Given the description of an element on the screen output the (x, y) to click on. 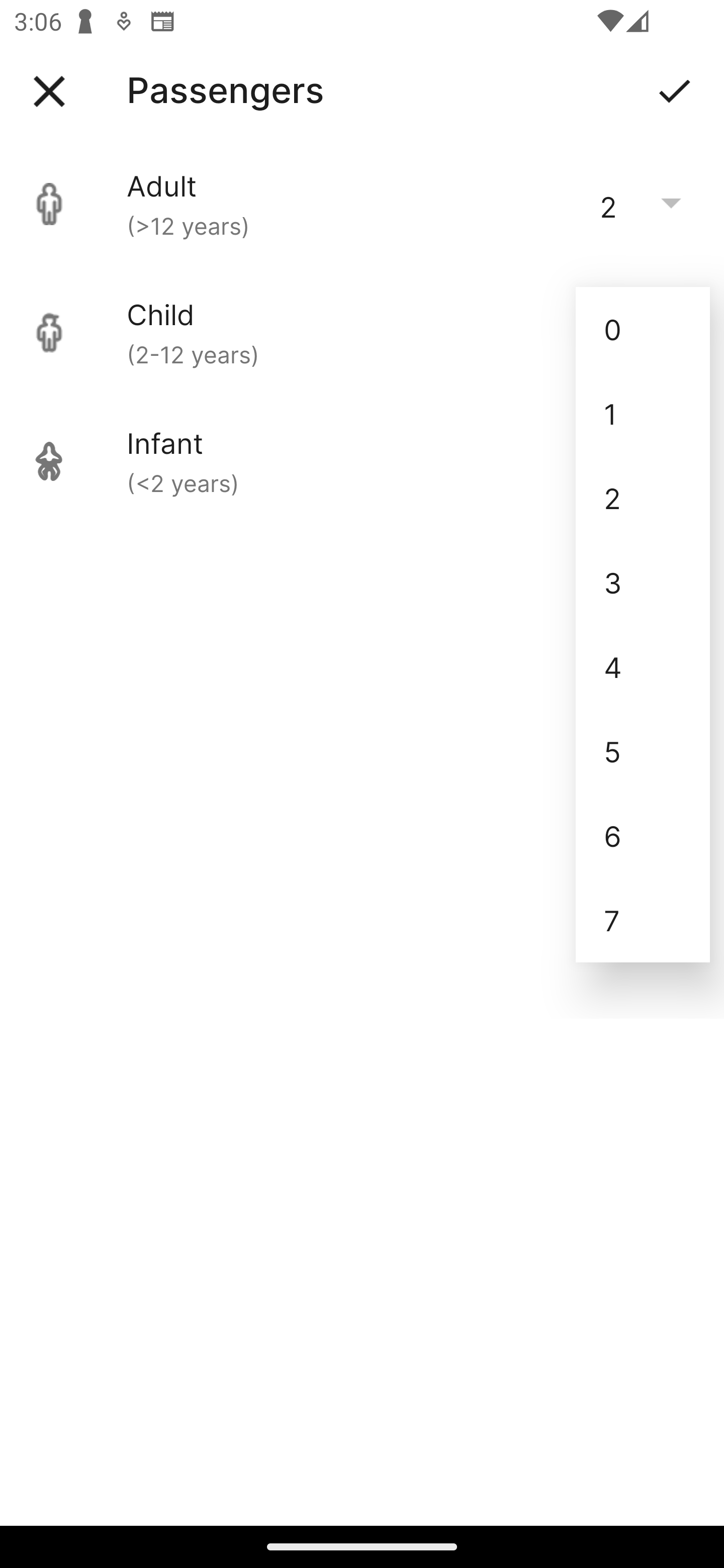
0 (642, 328)
1 (642, 413)
2 (642, 498)
3 (642, 582)
4 (642, 666)
5 (642, 750)
6 (642, 835)
7 (642, 920)
